Given the description of an element on the screen output the (x, y) to click on. 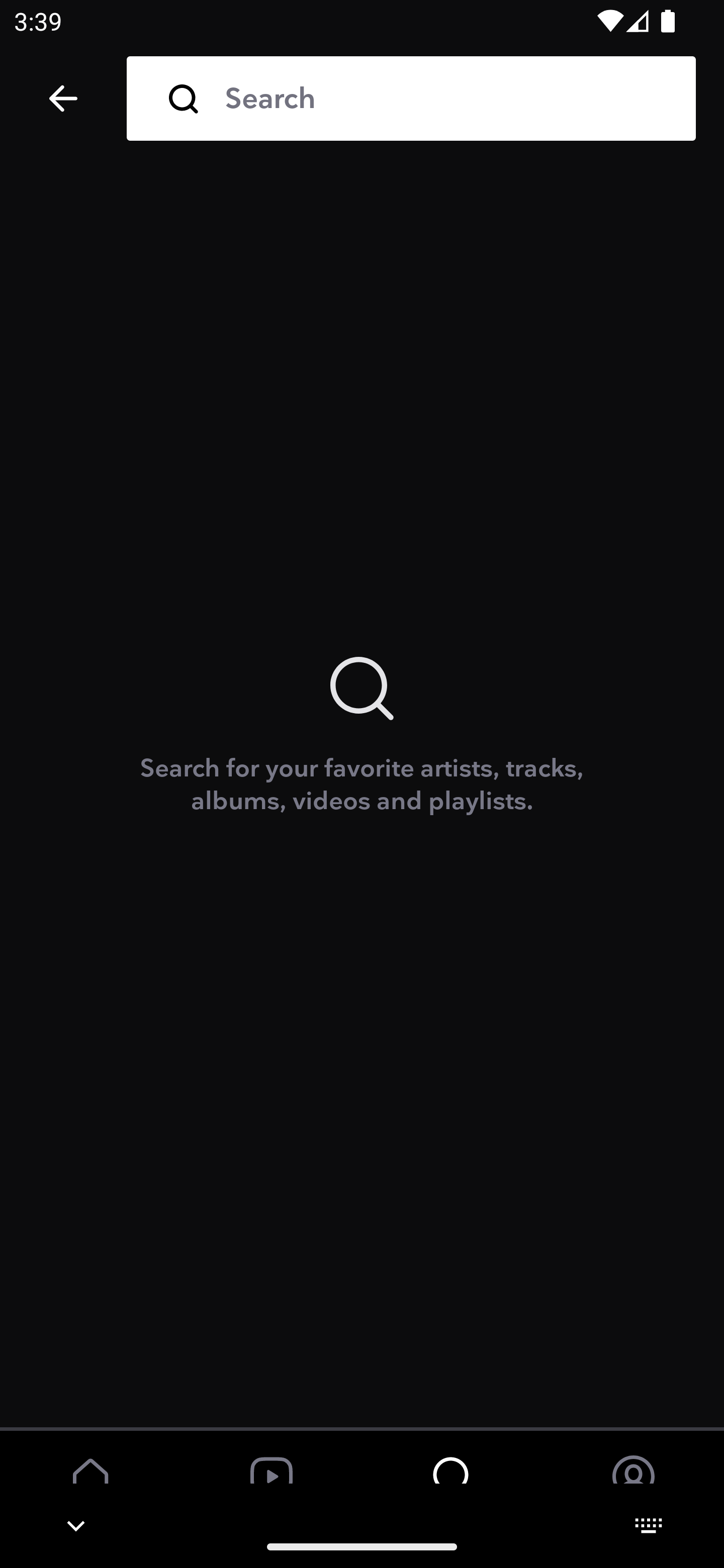
Search (446, 98)
